Given the description of an element on the screen output the (x, y) to click on. 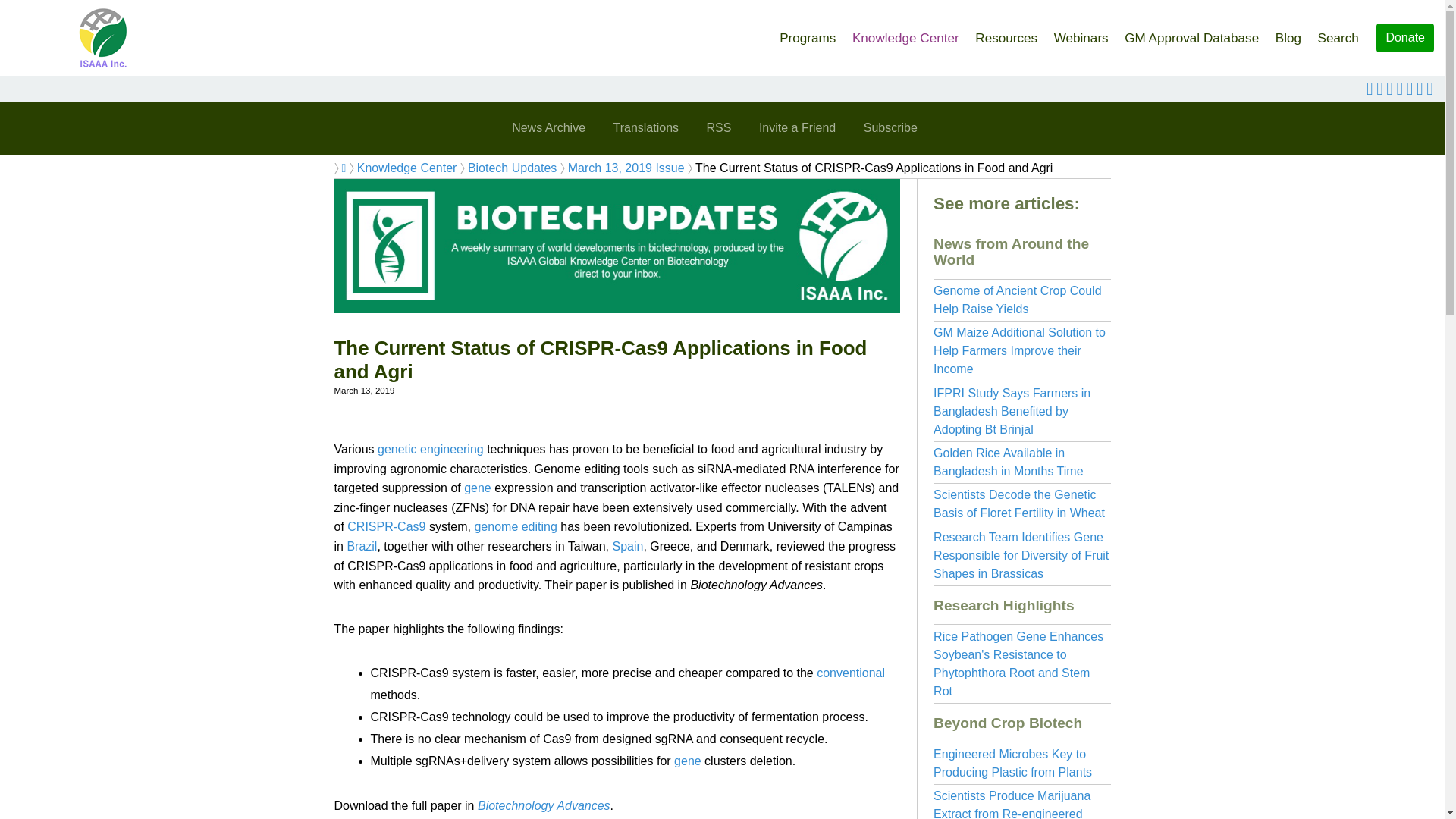
Translations (644, 127)
Spain (627, 545)
genetic engineering (430, 449)
gene (478, 487)
RSS (719, 127)
Golden Rice Available in Bangladesh in Months Time (1008, 461)
March 13, 2019 Issue (625, 167)
Search (1337, 32)
genome editing (515, 526)
